Given the description of an element on the screen output the (x, y) to click on. 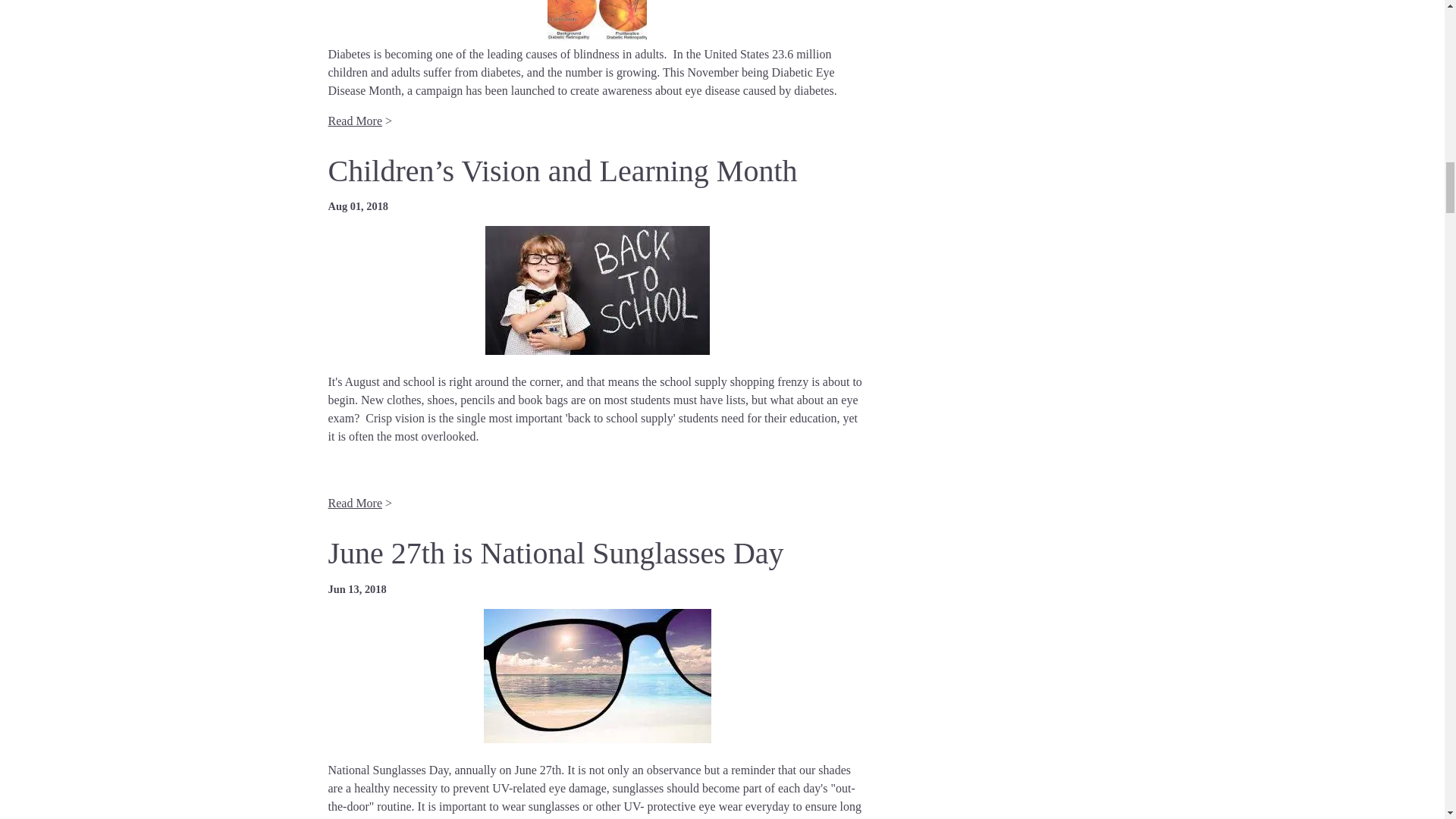
June 27th is National Sunglasses Day (555, 553)
Read More (354, 120)
Read More (354, 502)
